Given the description of an element on the screen output the (x, y) to click on. 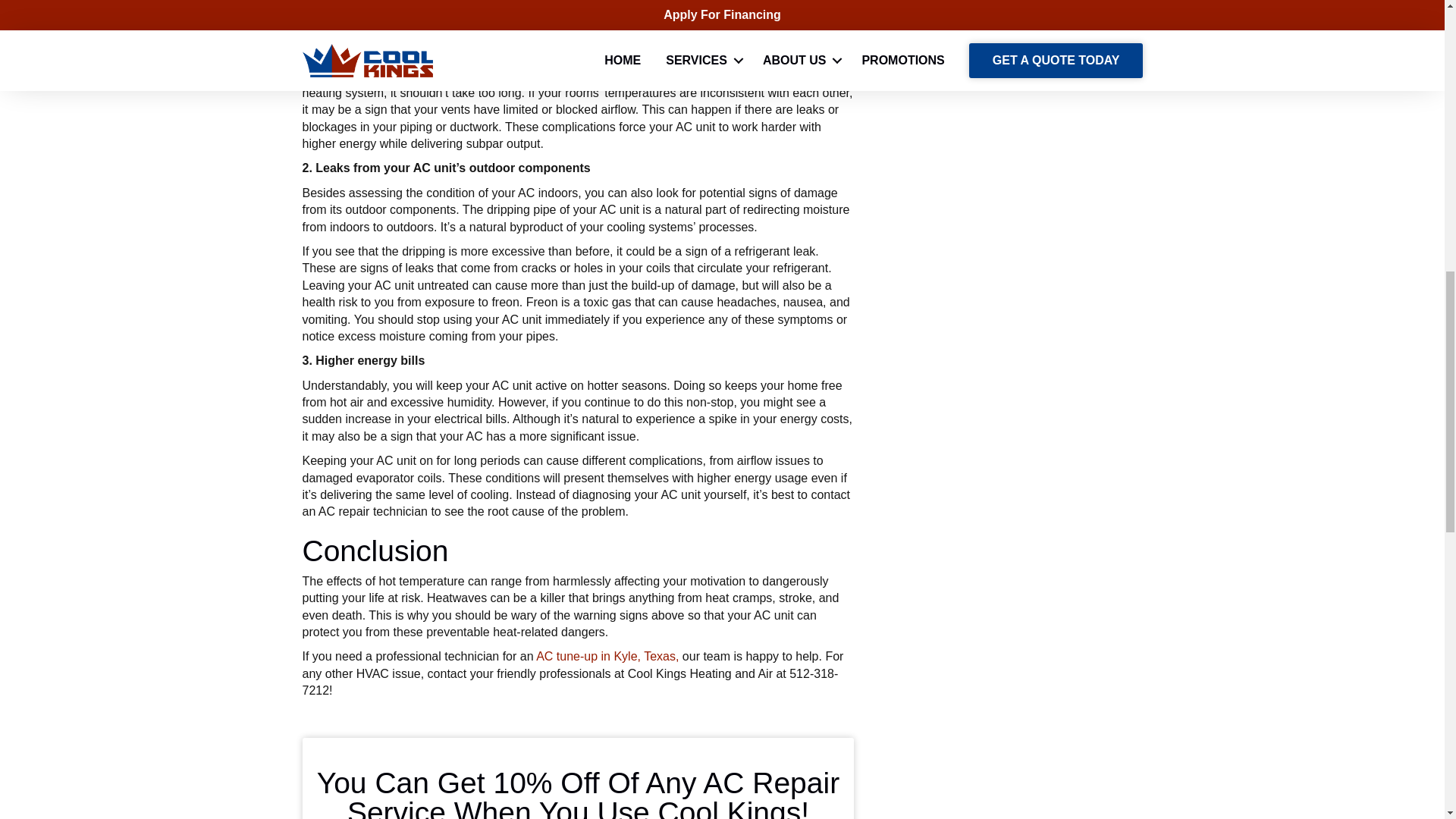
AC tune-up in Kyle, Texas, (606, 656)
Learn How to Extend the Life of Your HVAC System (994, 10)
